Given the description of an element on the screen output the (x, y) to click on. 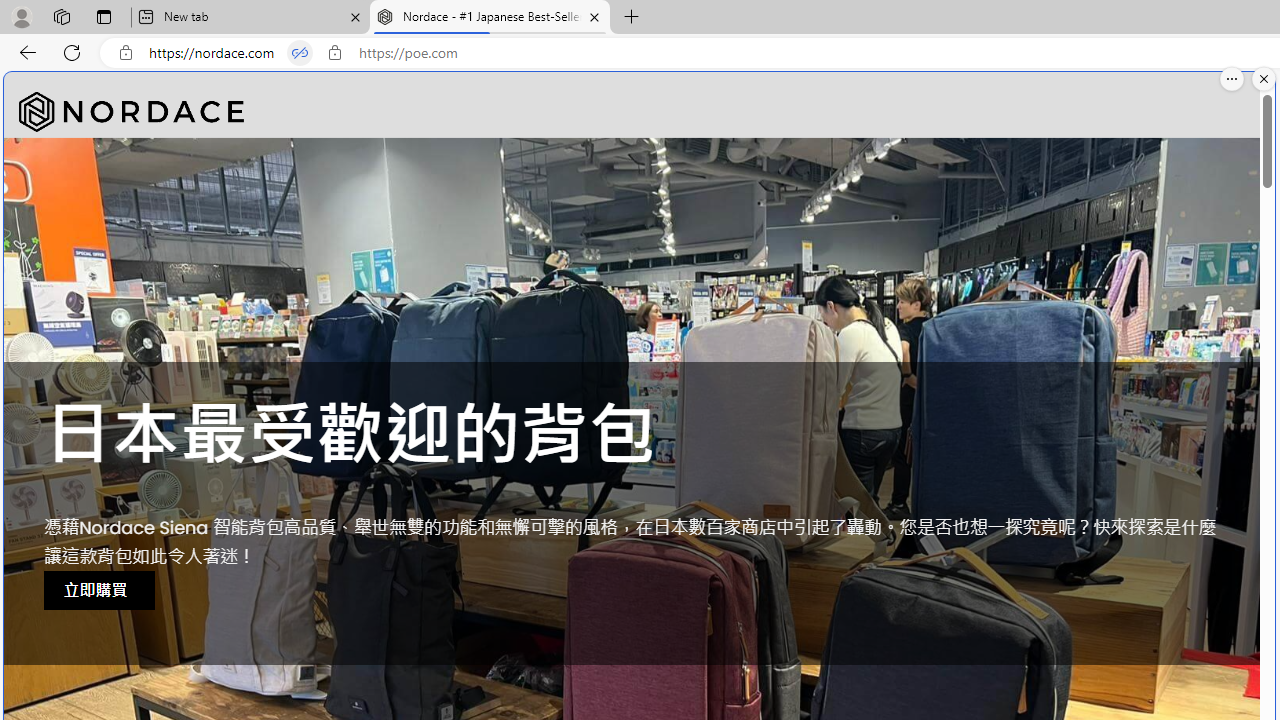
Close split screen. (1264, 79)
More options. (1232, 79)
Tabs in split screen (299, 53)
